Given the description of an element on the screen output the (x, y) to click on. 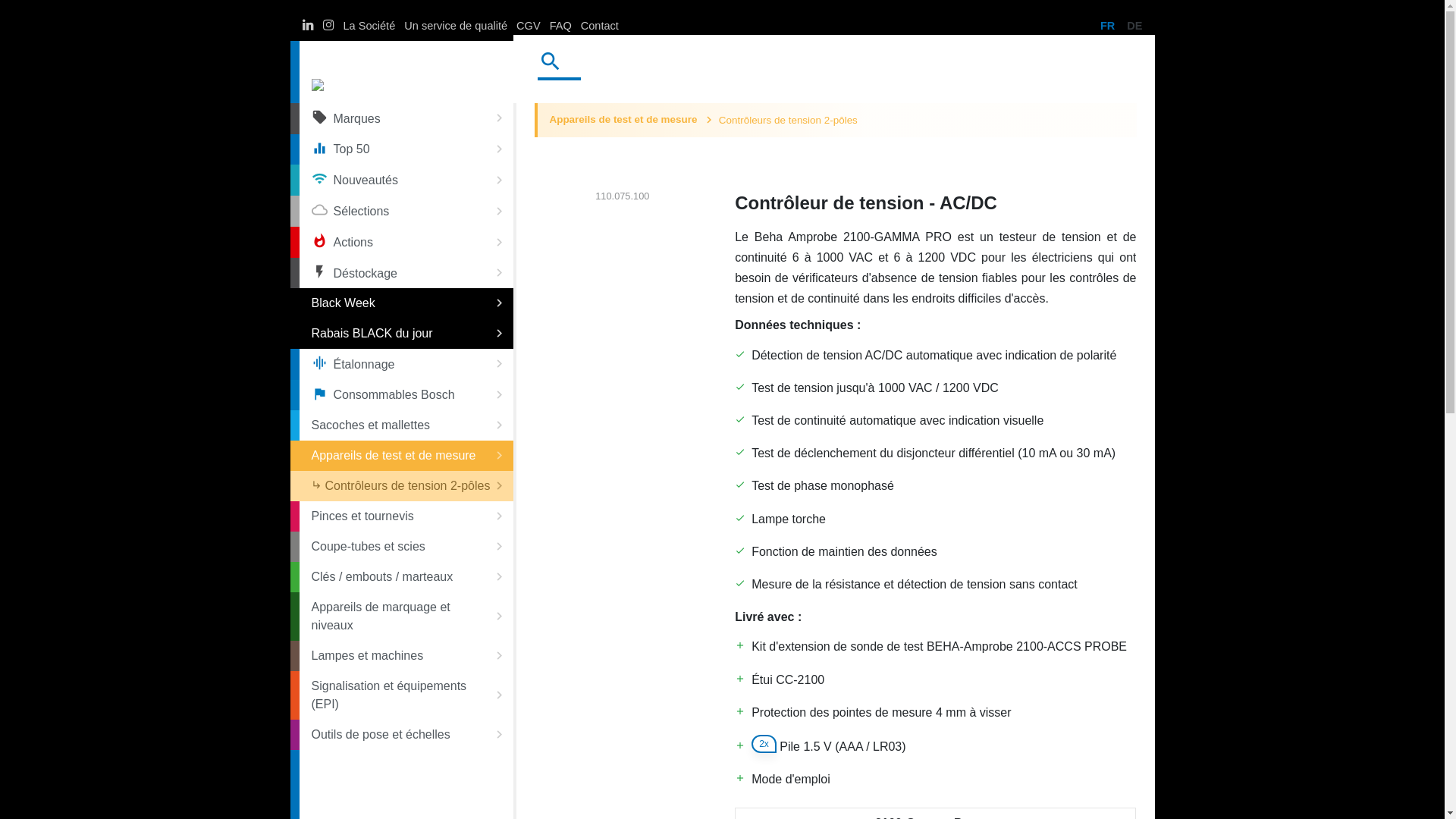
equalizerTop 50
keyboard_arrow_right Element type: text (405, 149)
local_offerMarques
keyboard_arrow_right Element type: text (405, 118)
FAQ Element type: text (560, 25)
shopping_cart Element type: text (1125, 68)
DE Element type: text (1134, 25)
Black Week
keyboard_arrow_right Element type: text (405, 303)
Appareils de test et de mesure
keyboard_arrow_right Element type: text (405, 455)
Appareils de marquage et niveaux
keyboard_arrow_right Element type: text (405, 616)
Sacoches et mallettes
keyboard_arrow_right Element type: text (405, 425)
whatshotActions
keyboard_arrow_right Element type: text (405, 241)
Appareils de test et de mesure Element type: text (622, 119)
CGV Element type: text (528, 25)
search Element type: text (552, 62)
Pinces et tournevis
keyboard_arrow_right Element type: text (405, 516)
flagConsommables Bosch
keyboard_arrow_right Element type: text (405, 395)
Coupe-tubes et scies
keyboard_arrow_right Element type: text (405, 546)
FR Element type: text (1107, 25)
Contact Element type: text (599, 25)
Rabais BLACK du jour
keyboard_arrow_right Element type: text (405, 333)
Lampes et machines
keyboard_arrow_right Element type: text (405, 655)
